Given the description of an element on the screen output the (x, y) to click on. 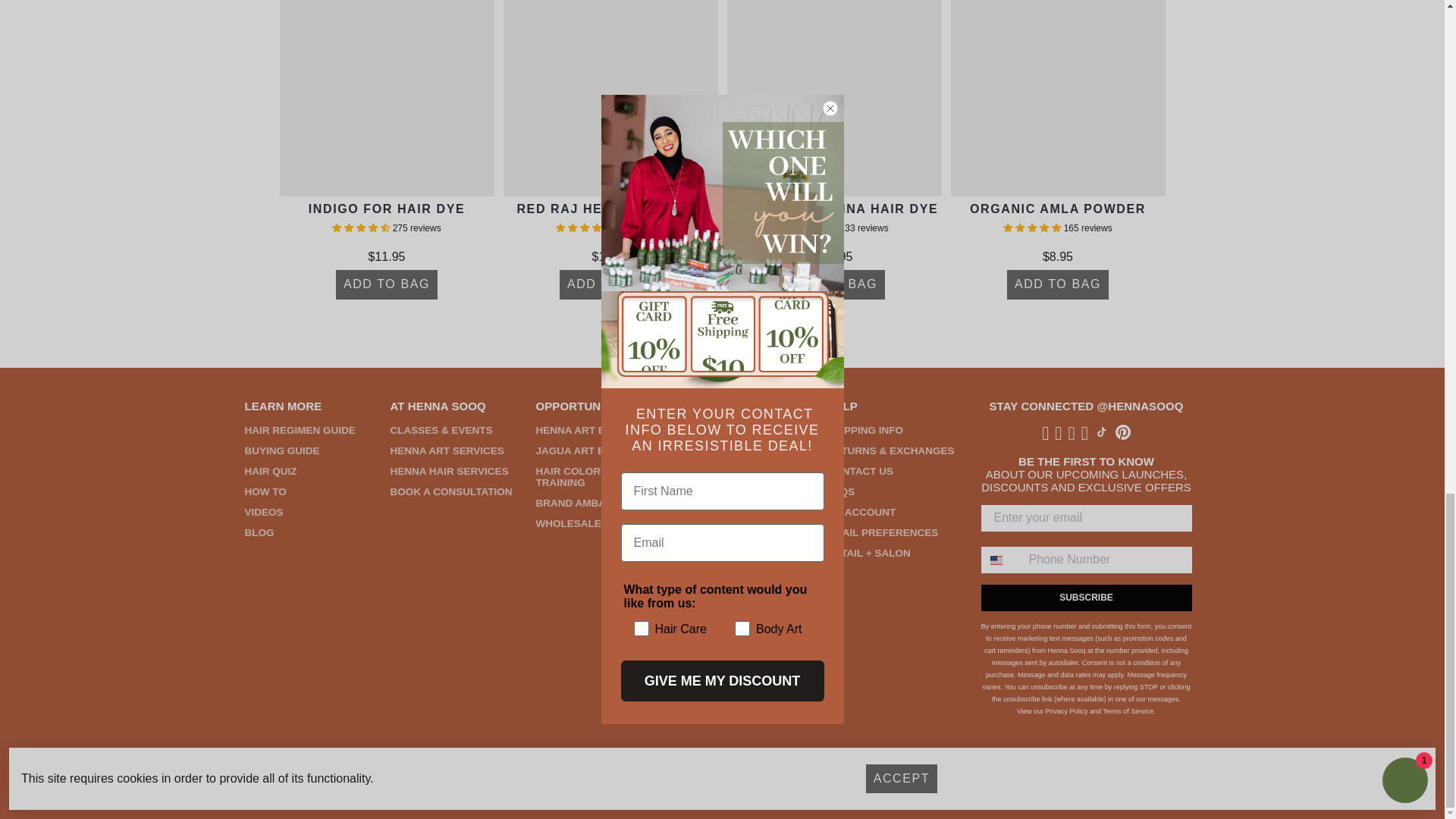
Discover (326, 783)
Apple Pay (294, 783)
PayPal (357, 783)
American Express (263, 783)
Mastercard (421, 783)
Visa (389, 783)
